Given the description of an element on the screen output the (x, y) to click on. 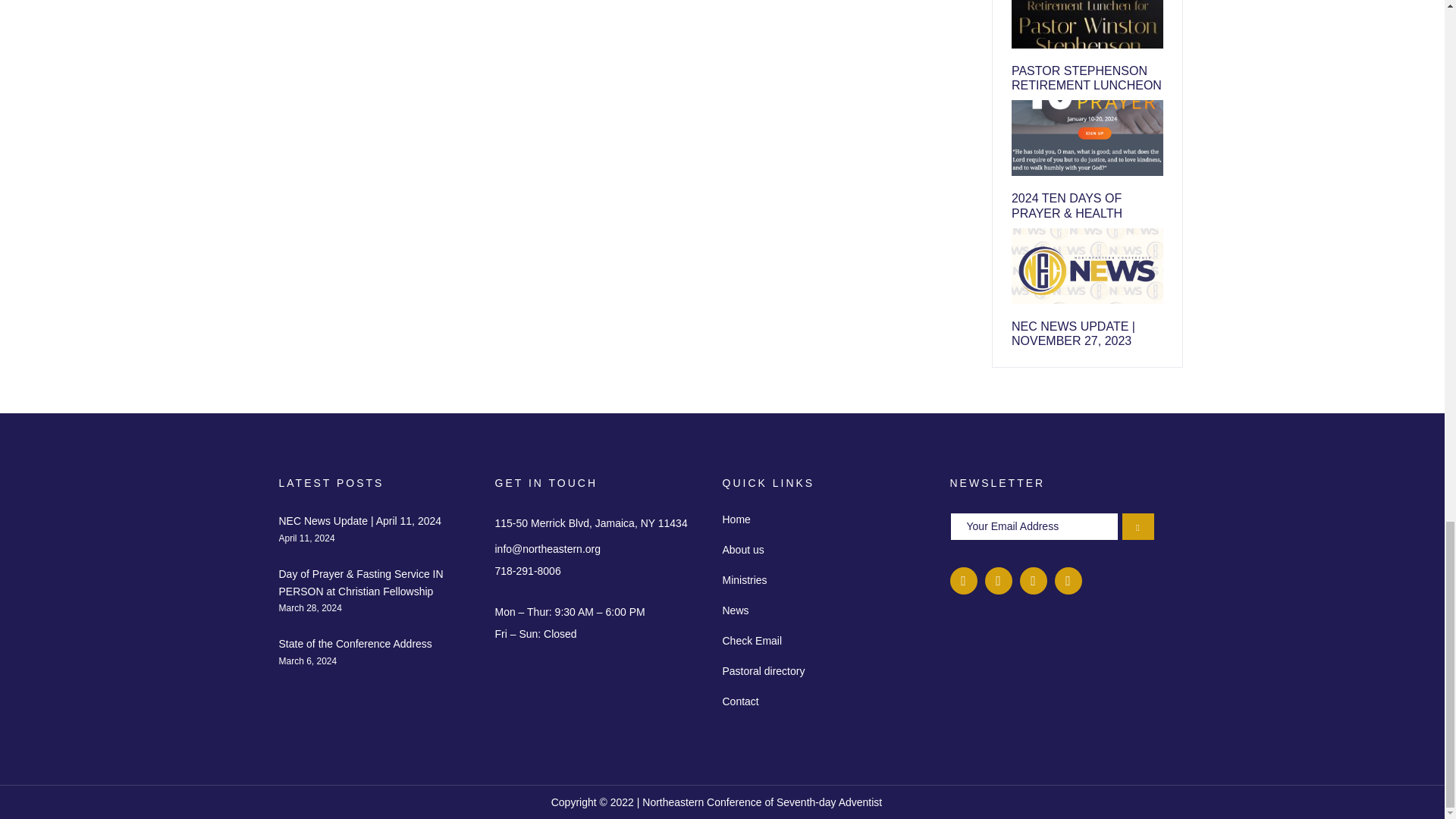
2024-03-06T13:04:06-05:00 (308, 661)
2024-04-11T15:52:11-04:00 (306, 538)
2024-03-28T19:50:37-04:00 (310, 607)
